Given the description of an element on the screen output the (x, y) to click on. 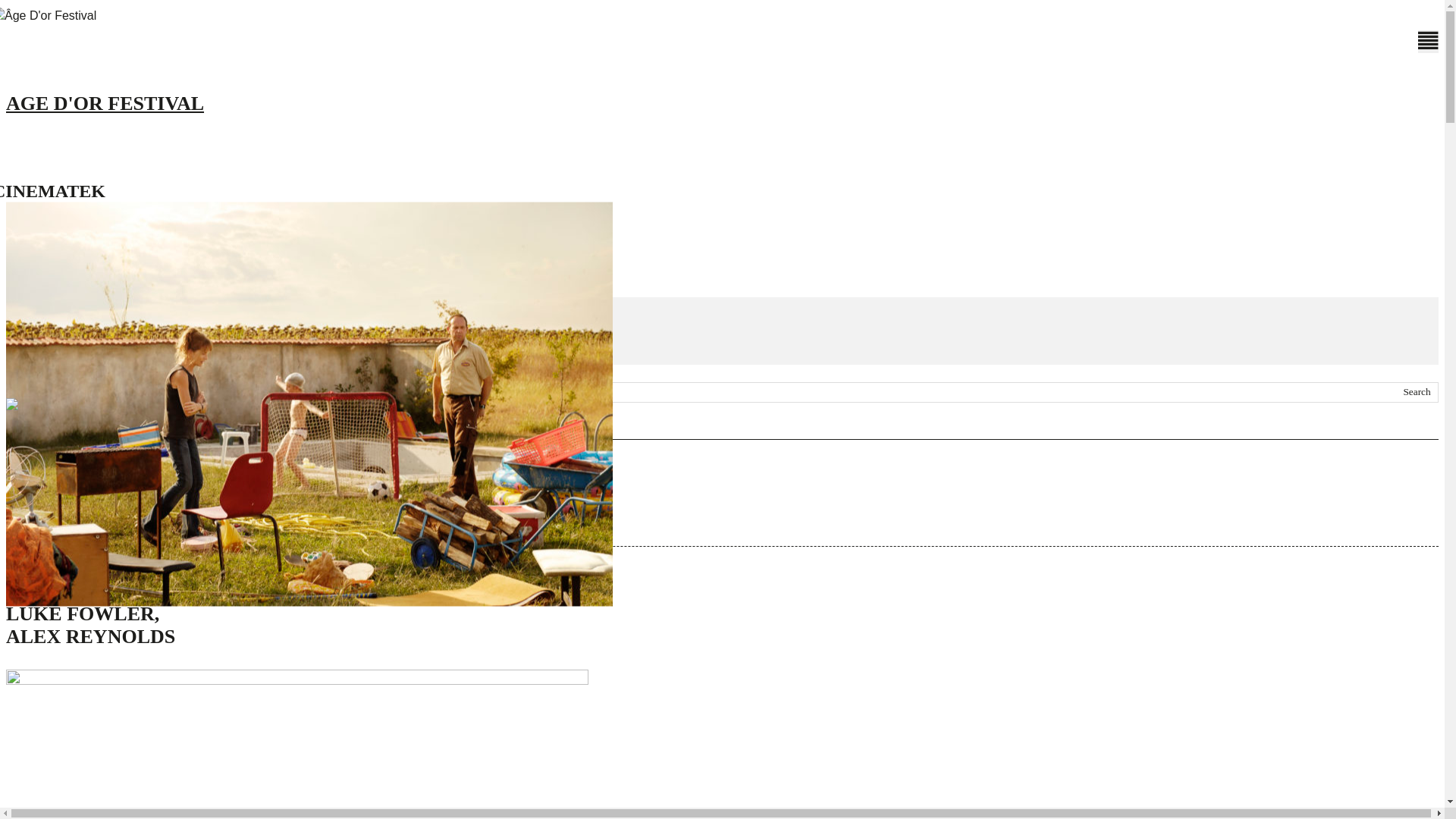
ARCHIVE Element type: text (90, 260)
AGE D'OR FESTIVAL Element type: text (722, 73)
NEWS Element type: text (78, 237)
PRACTICAL INFORMATION Element type: text (130, 355)
Search Element type: text (1417, 392)
ABOUT Element type: text (82, 284)
ORGANISATION Element type: text (99, 338)
